Given the description of an element on the screen output the (x, y) to click on. 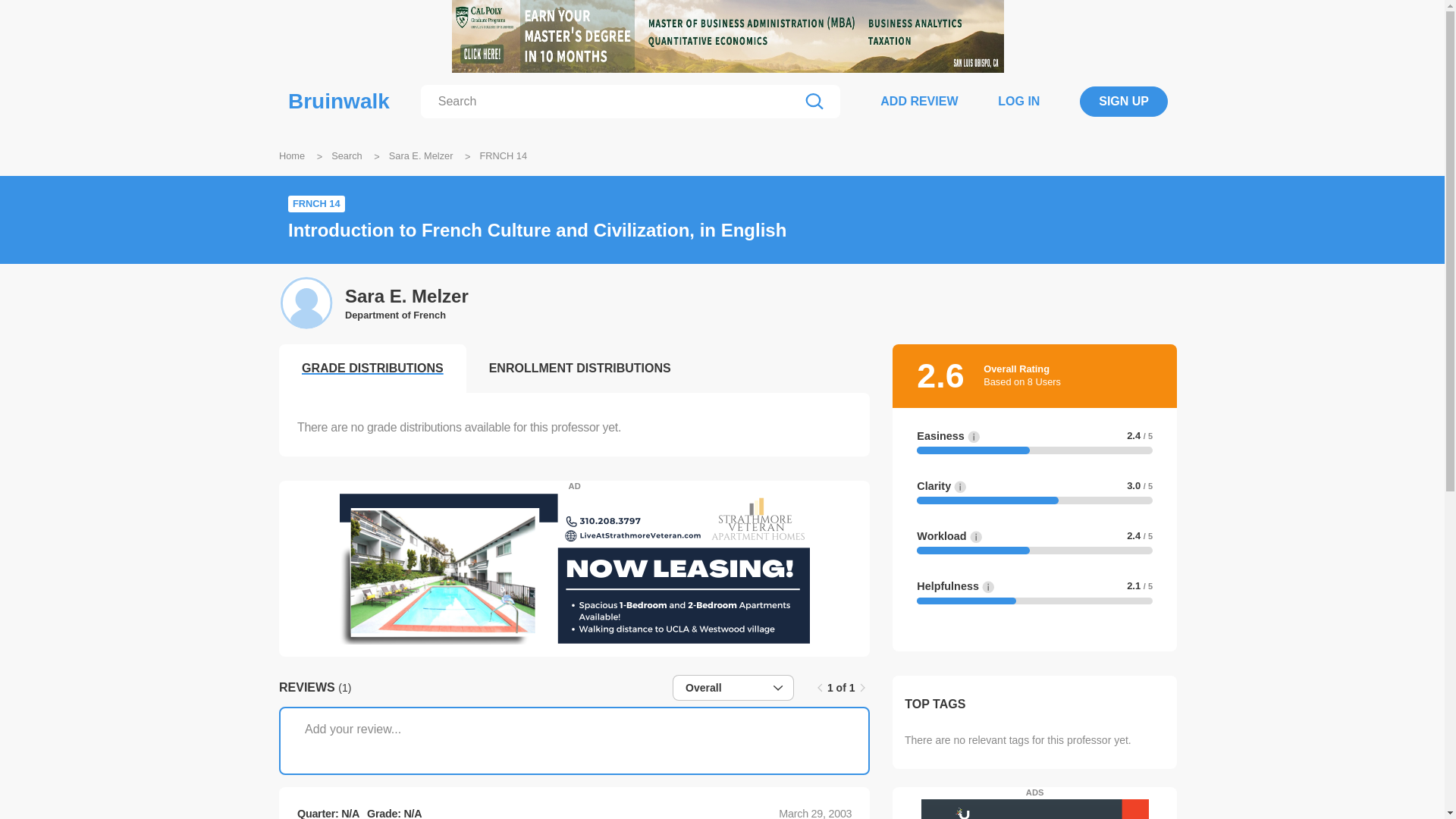
ADD REVIEW (919, 101)
SIGN UP (1123, 101)
LOG IN (1018, 101)
Bruinwalk (339, 101)
Sara E. Melzer (420, 155)
Search (346, 155)
Home (291, 155)
Sara E. Melzer (406, 296)
cal poly banner (727, 36)
Add your review... (574, 740)
Strath Veteran BW July 24 620x200 (574, 568)
